Given the description of an element on the screen output the (x, y) to click on. 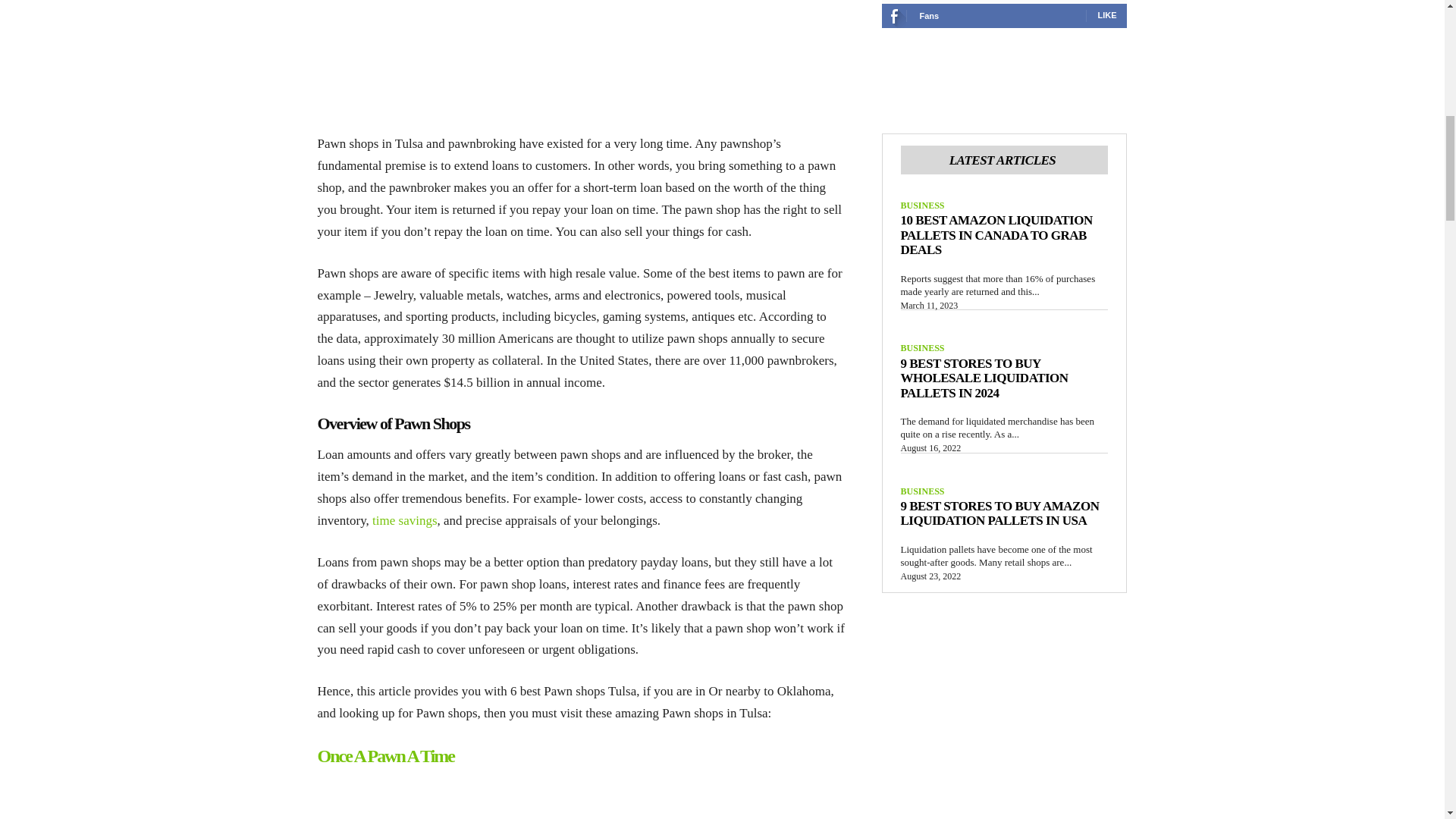
Once A Pawn A Time (384, 755)
time savings (404, 520)
LIKE (1106, 14)
9 Best Stores to Buy Amazon Liquidation Pallets in USA (1000, 513)
10 Best Amazon Liquidation Pallets in Canada to Grab Deals (997, 234)
9 Best Stores to Buy Wholesale Liquidation Pallets in 2024 (984, 378)
